Given the description of an element on the screen output the (x, y) to click on. 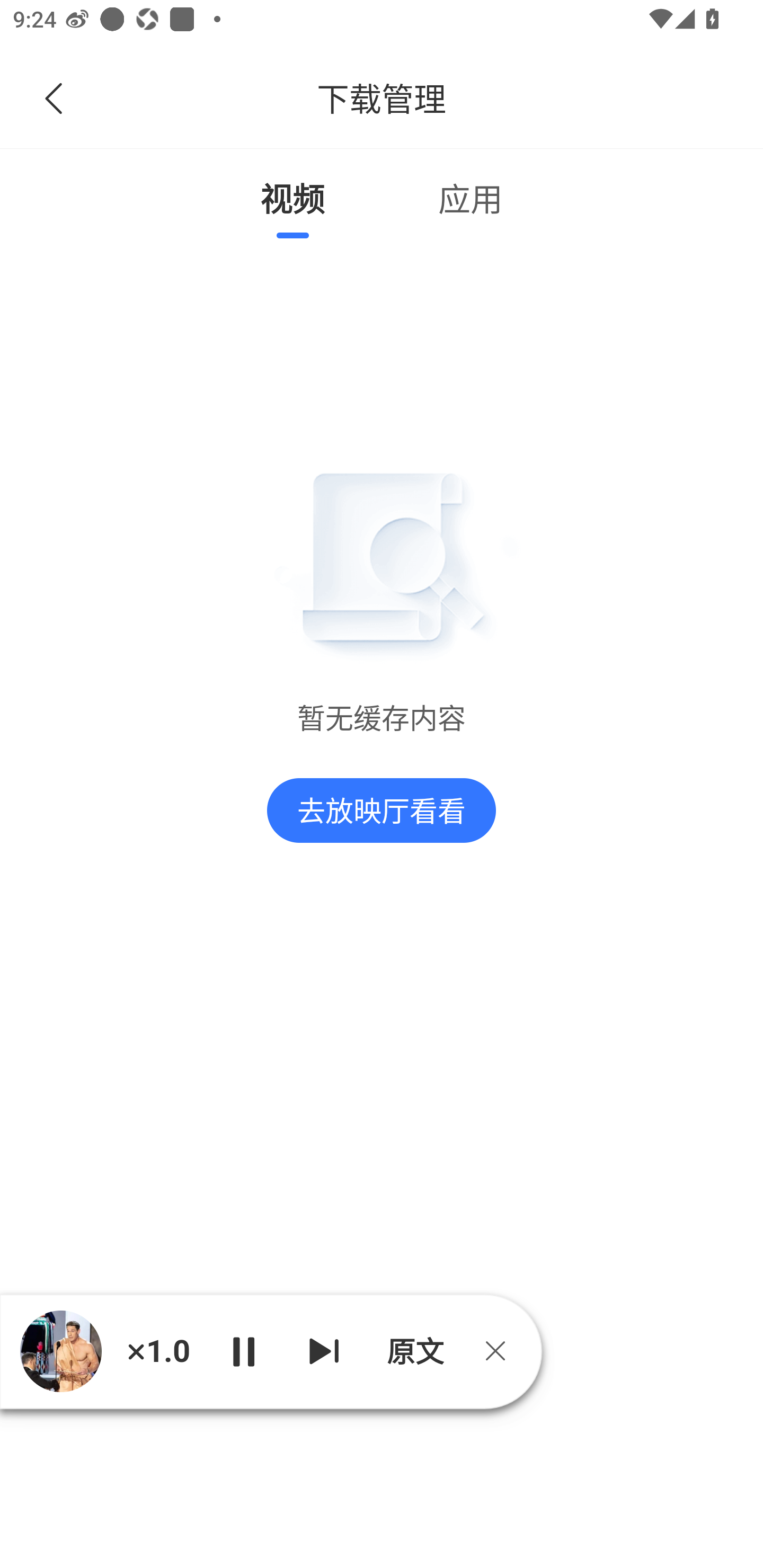
 播放 (242, 1351)
 下一个 (323, 1351)
 关闭 (501, 1350)
播放器 (60, 1351)
原文 (413, 1350)
 1.0 (157, 1351)
